Given the description of an element on the screen output the (x, y) to click on. 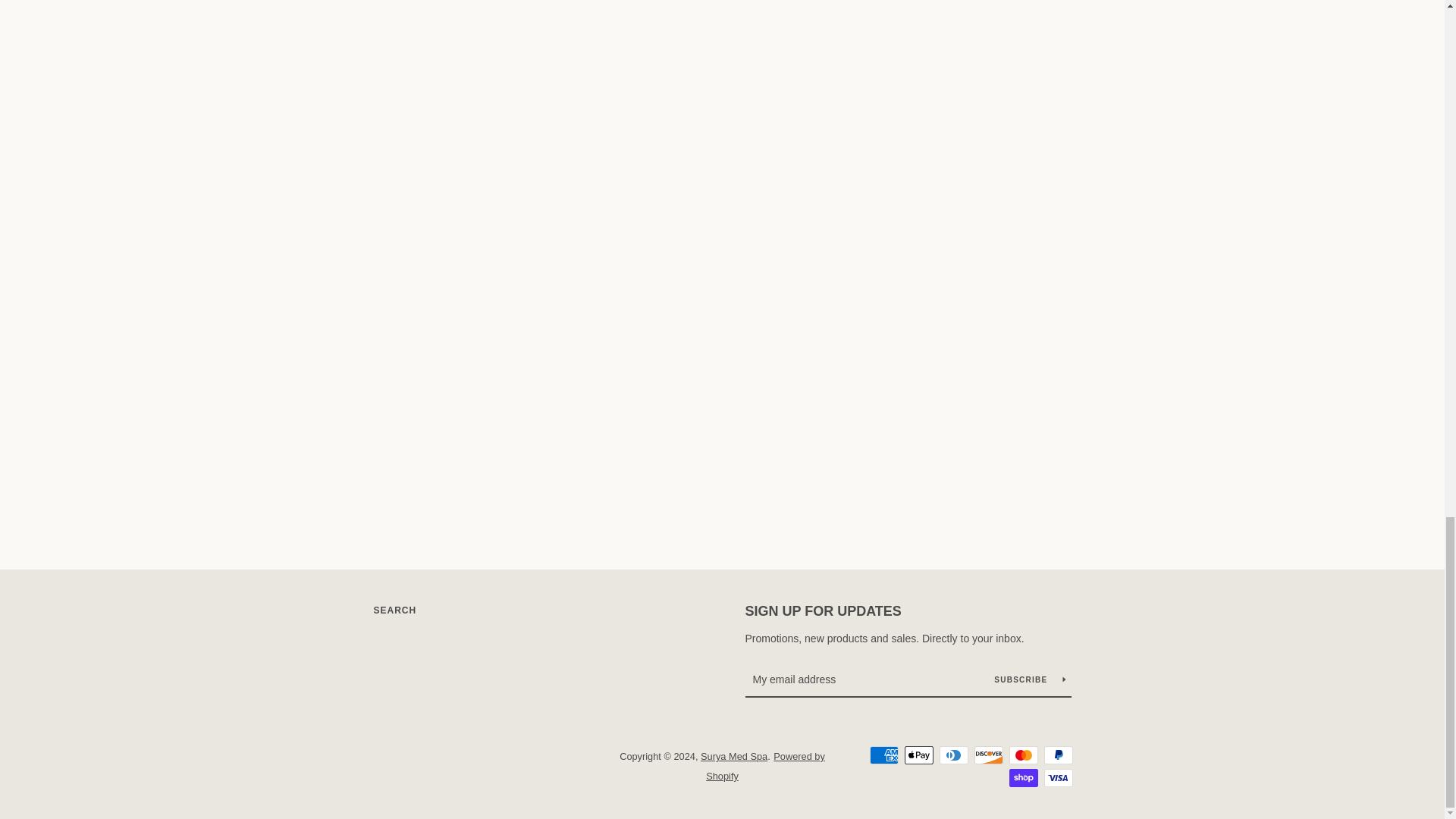
SUBSCRIBE (1029, 679)
Discover (988, 755)
PayPal (1057, 755)
Mastercard (1022, 755)
Visa (1057, 778)
Diners Club (953, 755)
SEARCH (394, 609)
Apple Pay (918, 755)
Powered by Shopify (765, 766)
American Express (883, 755)
